Given the description of an element on the screen output the (x, y) to click on. 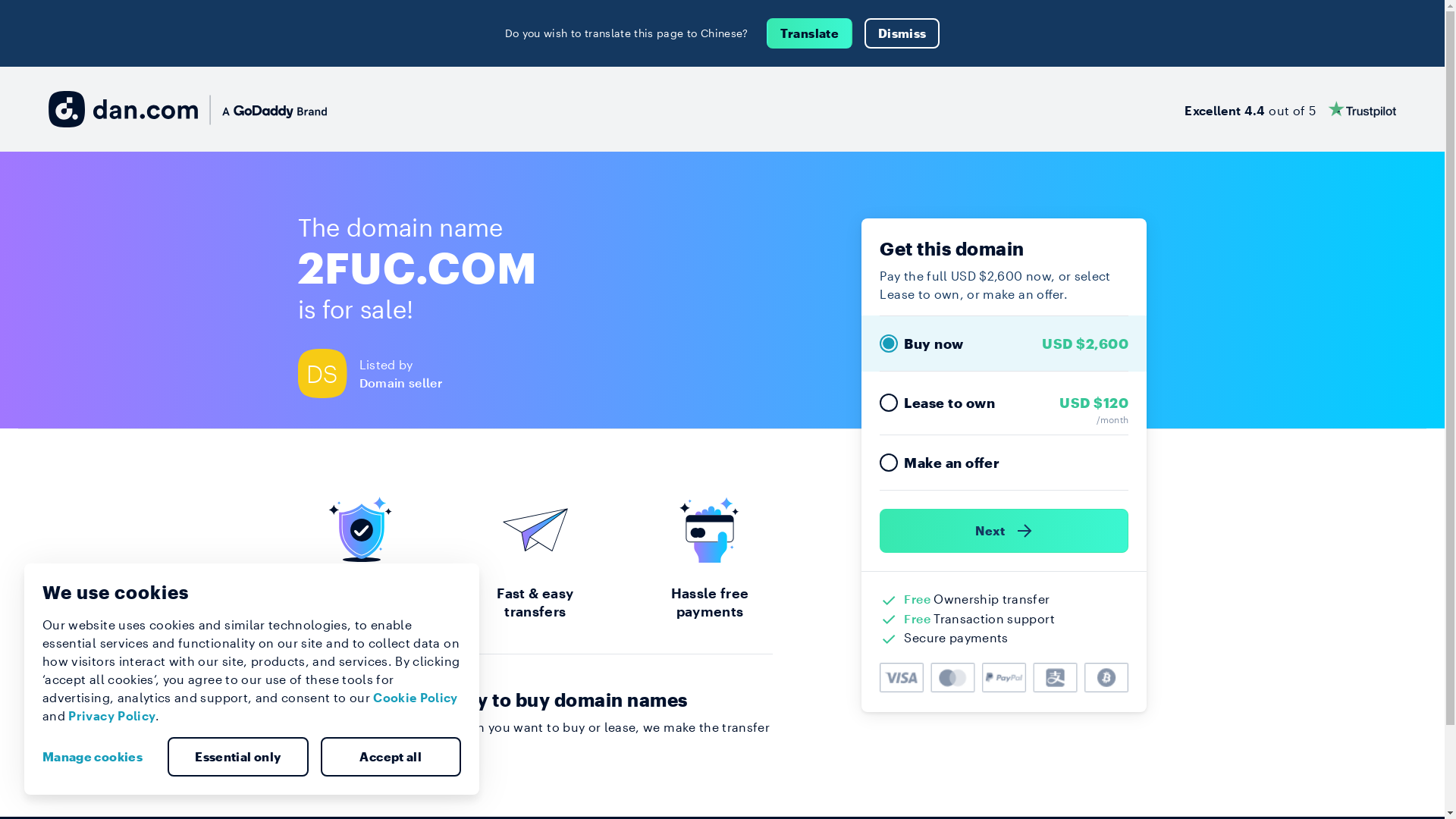
Dismiss Element type: text (901, 33)
Excellent 4.4 out of 5 Element type: text (1290, 109)
Privacy Policy Element type: text (111, 715)
Manage cookies Element type: text (98, 756)
Translate Element type: text (809, 33)
Accept all Element type: text (390, 756)
Essential only Element type: text (237, 756)
Cookie Policy Element type: text (415, 697)
Next
) Element type: text (1003, 530)
DS Element type: text (327, 373)
